Given the description of an element on the screen output the (x, y) to click on. 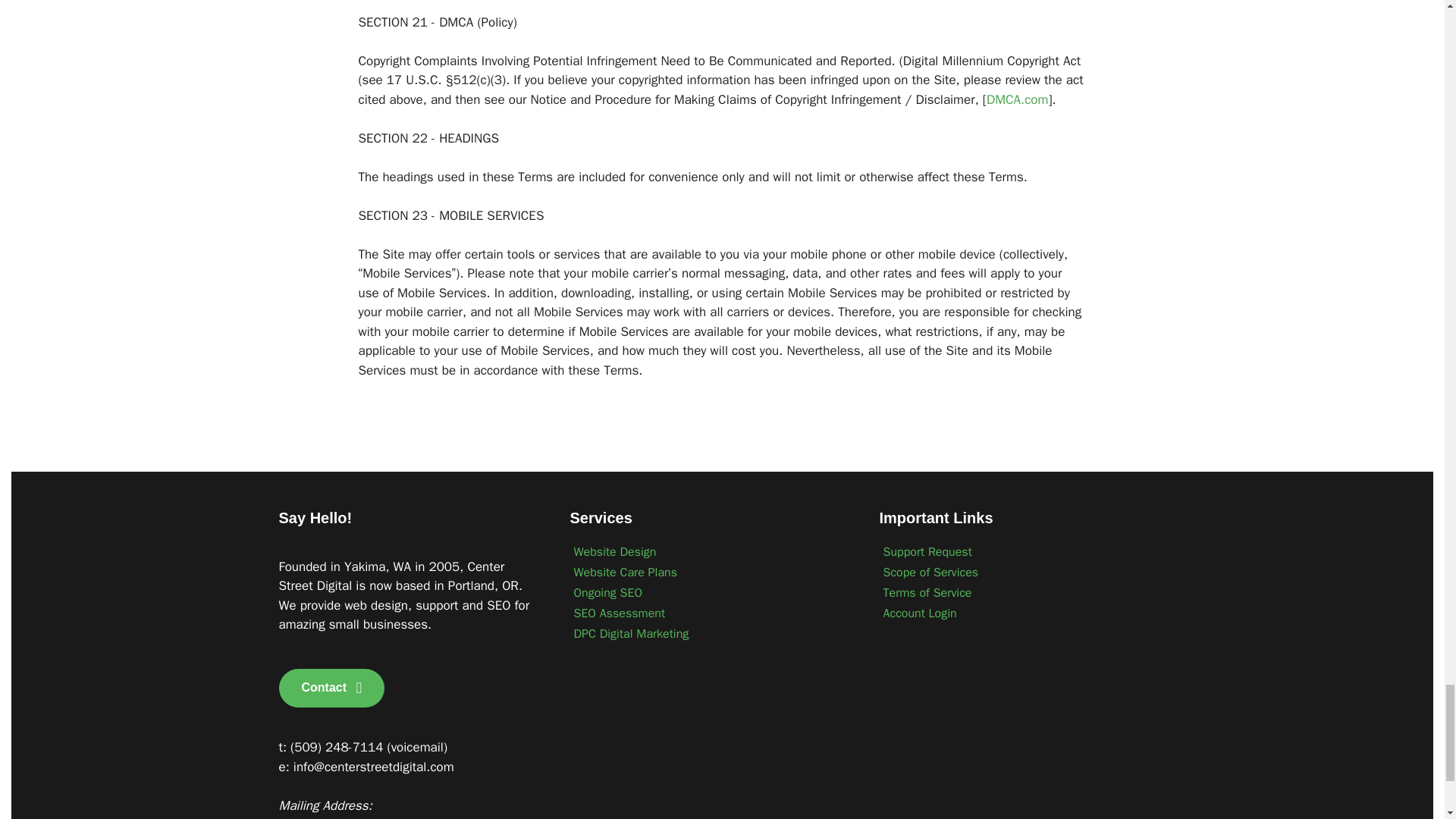
Website Care Plans (709, 572)
DMCA.com (1017, 99)
Terms of Service (1016, 592)
SEO Assessment (709, 613)
Account Login (1016, 613)
DPC Digital Marketing (709, 633)
Contact (332, 688)
Support Request (1016, 551)
Ongoing SEO (709, 592)
Website Design (709, 551)
Scope of Services (1016, 572)
